Given the description of an element on the screen output the (x, y) to click on. 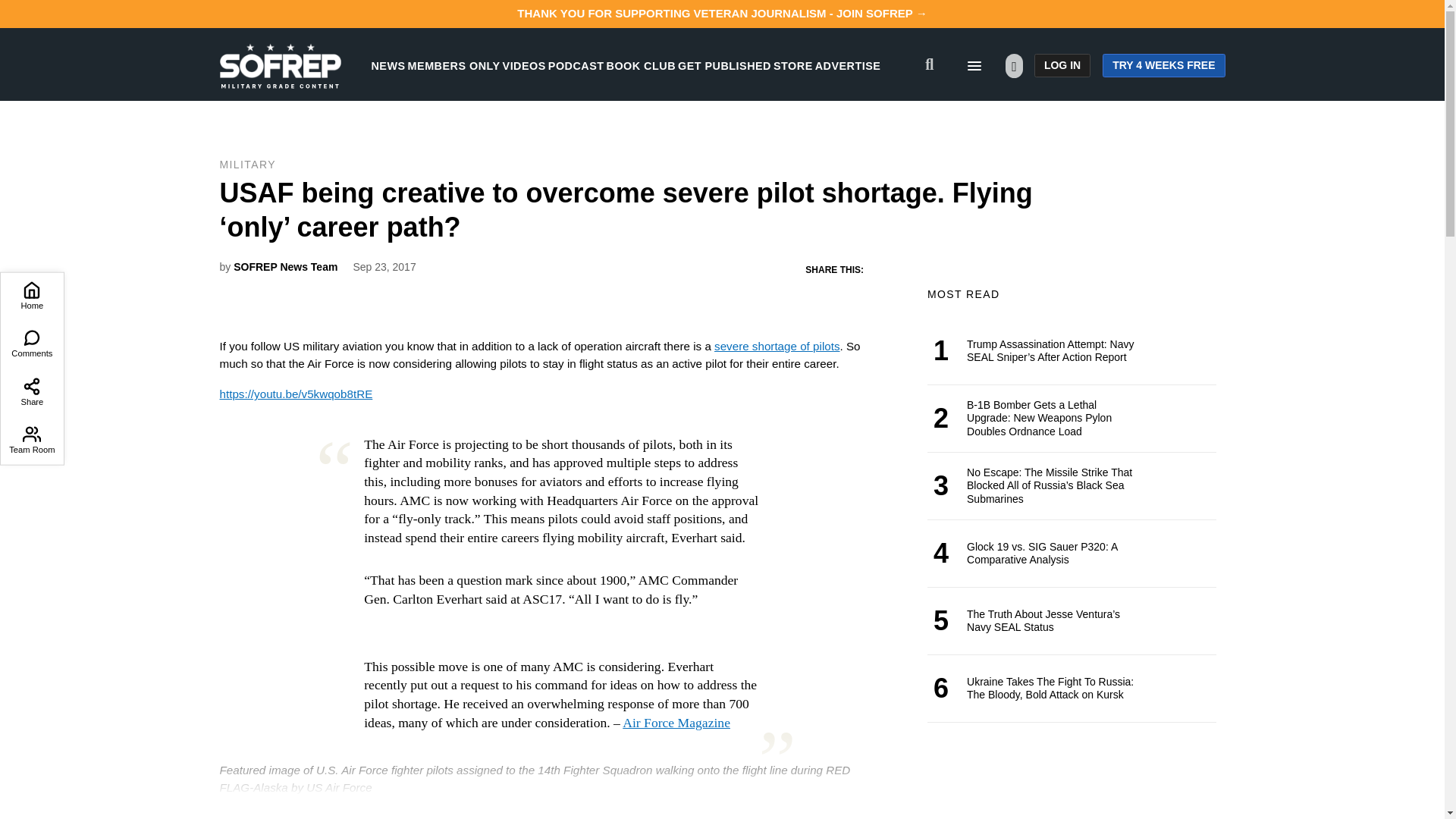
STORE (792, 65)
TRY 4 WEEKS FREE (1163, 65)
PODCAST (576, 65)
LOG IN (1061, 65)
NEWS (388, 65)
BOOK CLUB (641, 65)
MEMBERS ONLY (453, 65)
VIDEOS (524, 65)
ADVERTISE (847, 65)
GET PUBLISHED (724, 65)
